Given the description of an element on the screen output the (x, y) to click on. 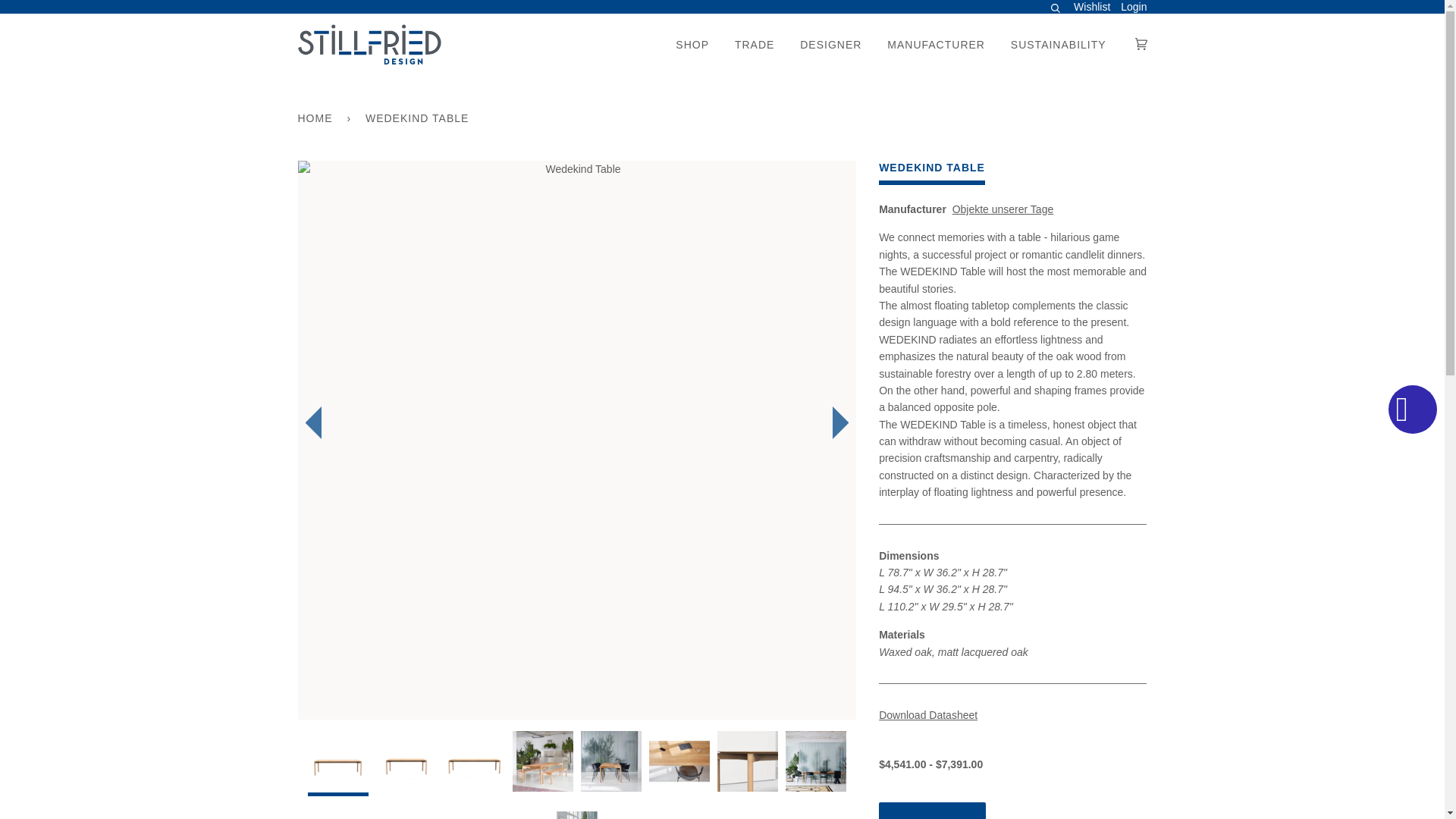
Back to the frontpage (317, 118)
Login (1134, 6)
View Wishlist (1091, 7)
Wishlist (1091, 7)
